Given the description of an element on the screen output the (x, y) to click on. 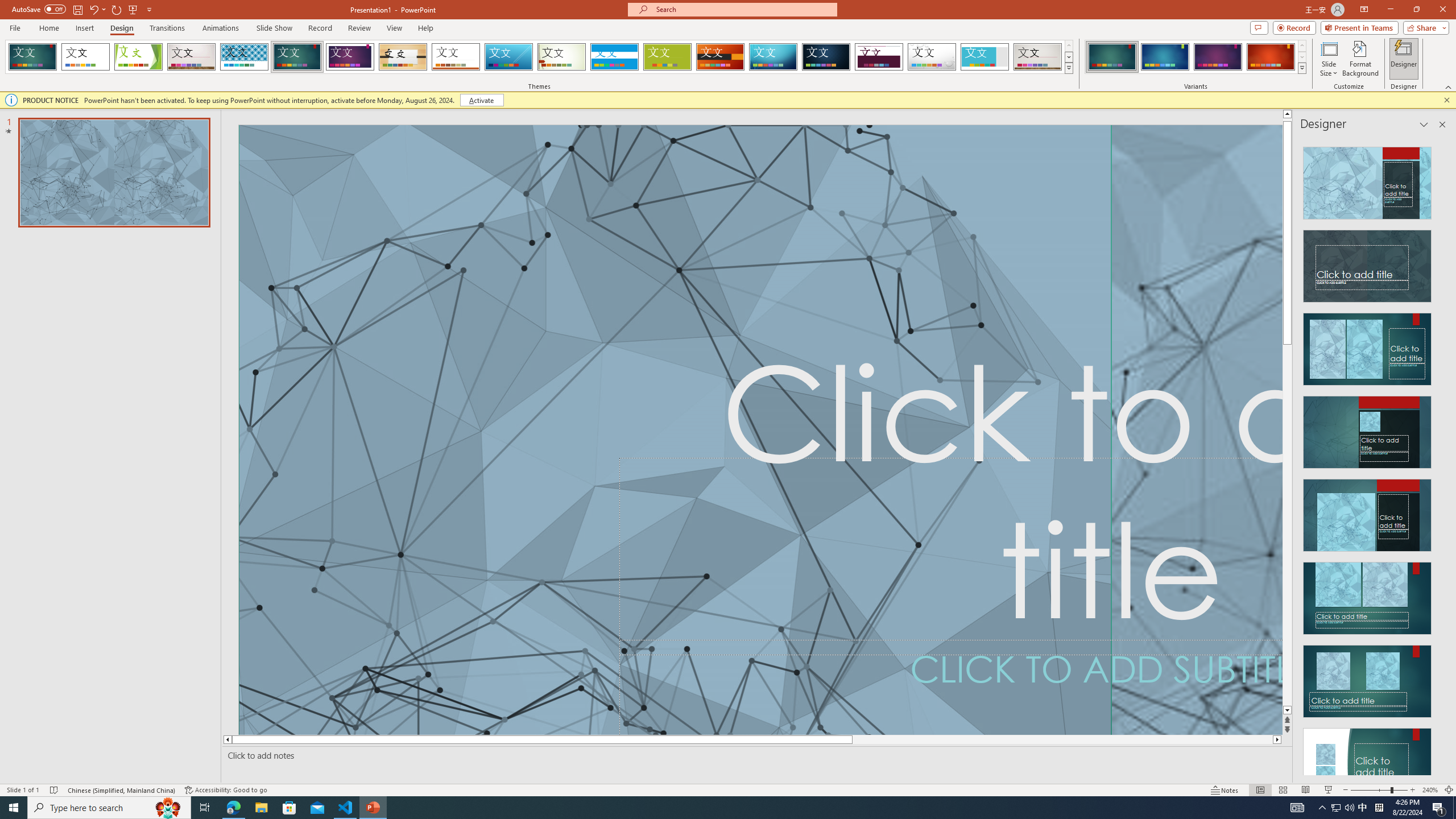
Title TextBox (950, 556)
AutoSave (38, 9)
Format Background (1360, 58)
Row Down (1301, 56)
Gallery (1037, 56)
Activate (481, 100)
Zoom 240% (1430, 790)
Task Pane Options (1423, 124)
Animations (220, 28)
Present in Teams (1359, 27)
File Tab (15, 27)
Review (359, 28)
Circuit (772, 56)
